Given the description of an element on the screen output the (x, y) to click on. 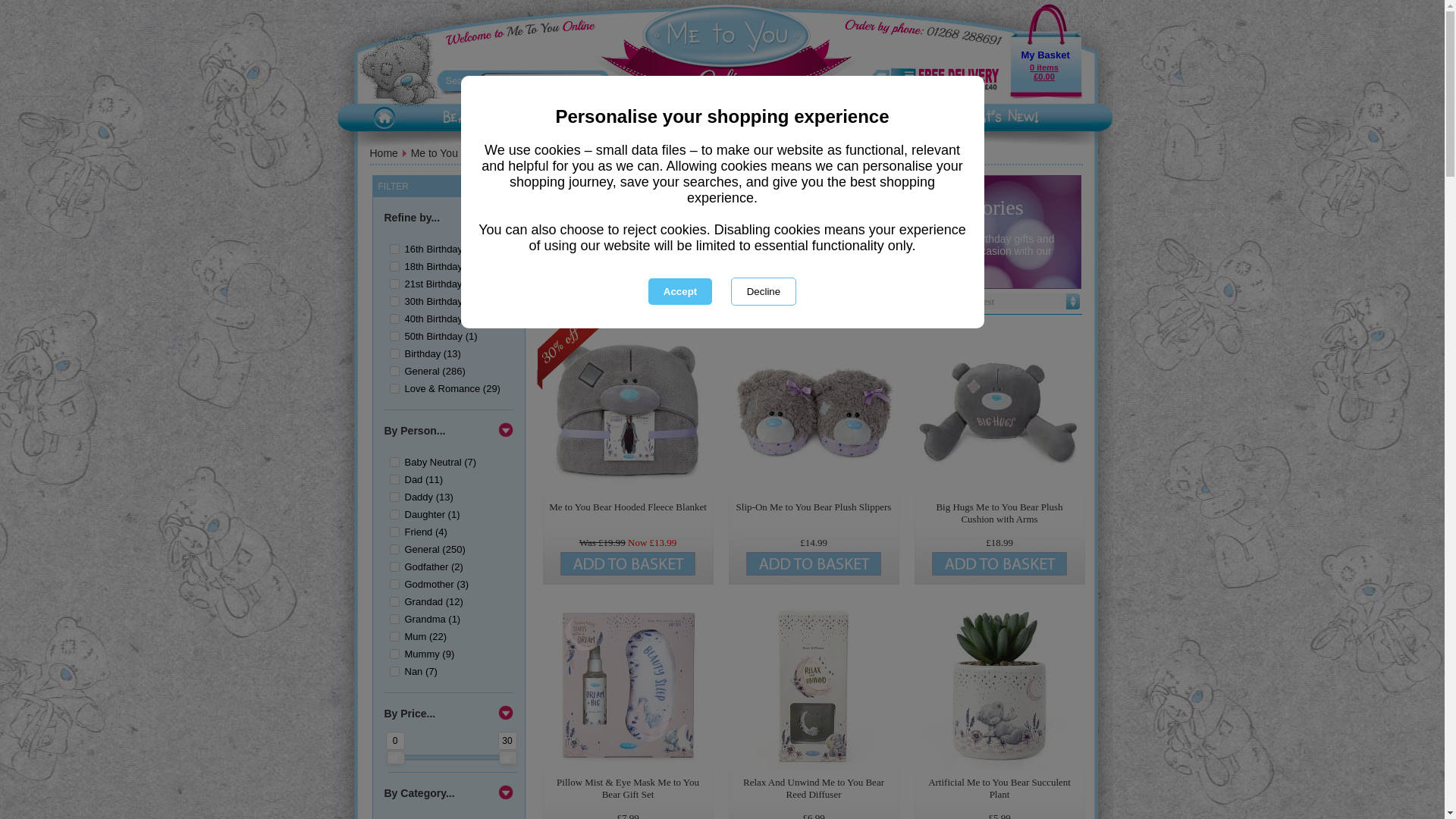
Search now.. (533, 80)
on (394, 479)
on (394, 266)
on (394, 461)
Relax And Unwind Me to You Bear Reed Diffuser (813, 685)
Artificial Me to You Bear Succulent Plant (999, 685)
on (394, 353)
My Basket (1044, 54)
Decline (763, 291)
on (394, 336)
on (394, 566)
Accept (679, 291)
on (394, 388)
Accept (679, 291)
on (394, 497)
